Given the description of an element on the screen output the (x, y) to click on. 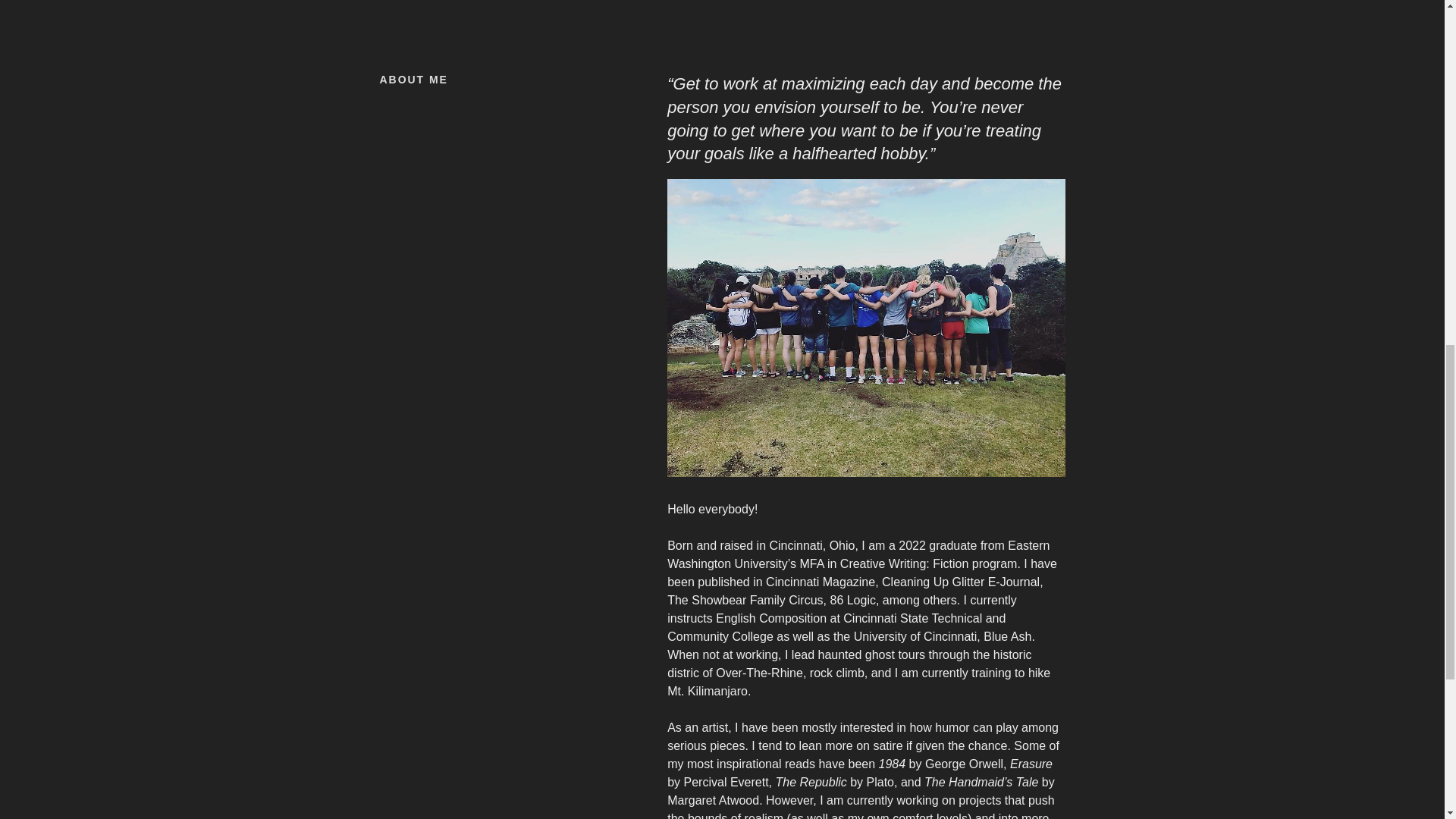
together looking out (865, 327)
